Given the description of an element on the screen output the (x, y) to click on. 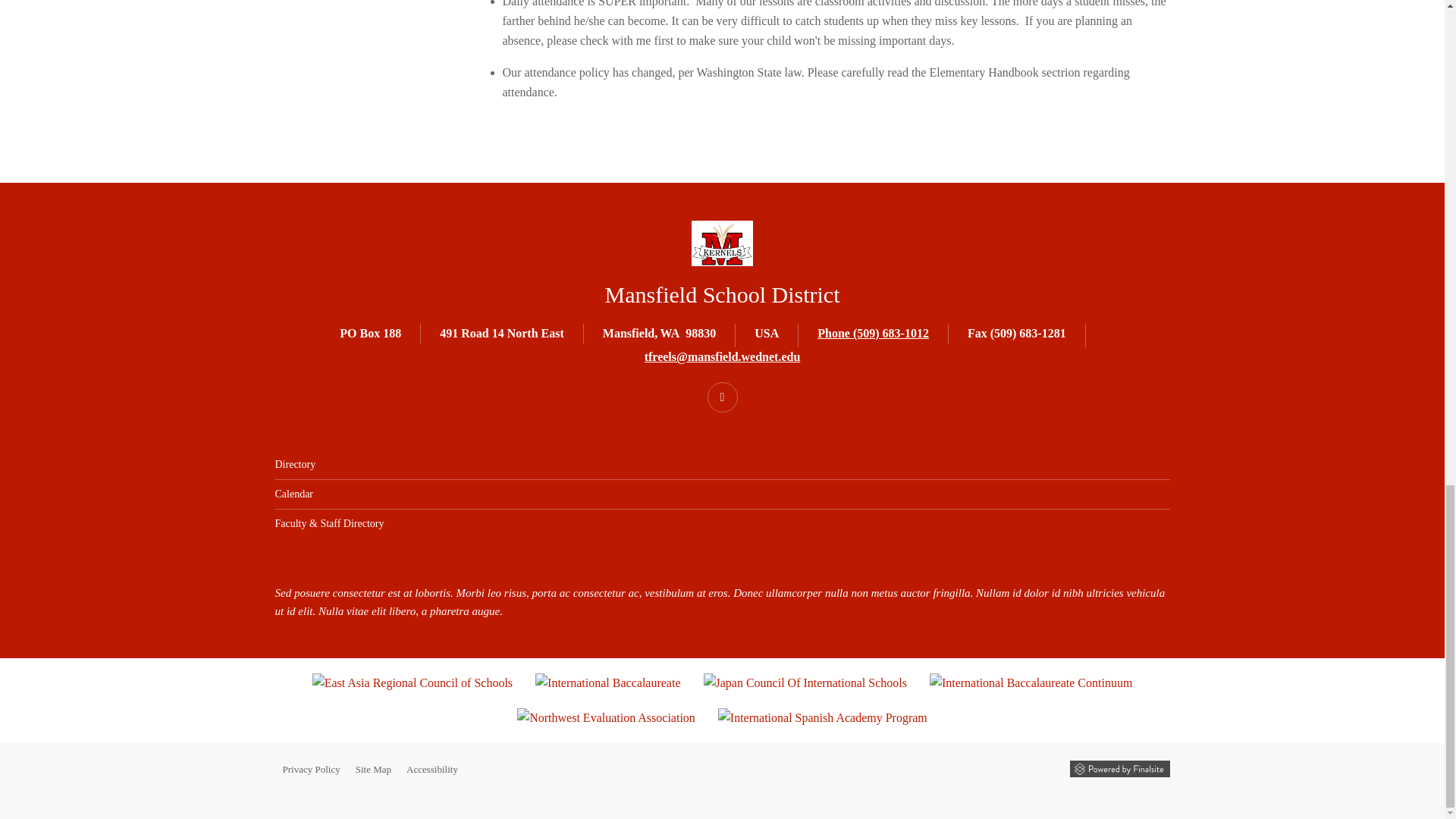
Powered by Finalsite opens in a new window (1118, 768)
Email (722, 356)
